Given the description of an element on the screen output the (x, y) to click on. 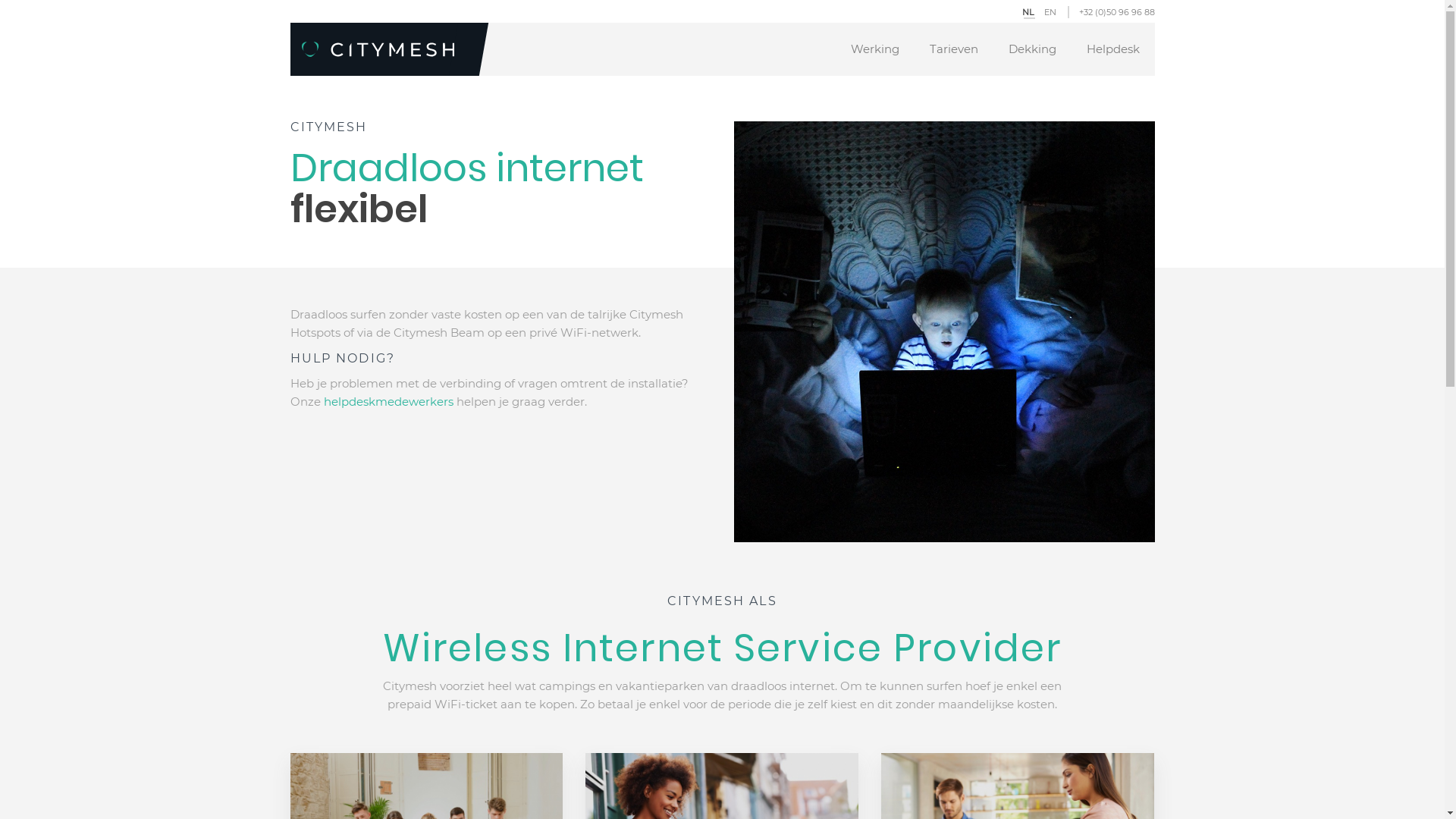
+32 (0)50 96 96 88 Element type: text (1116, 11)
Helpdesk Element type: text (1112, 48)
NL Element type: text (1027, 11)
Dekking Element type: text (1032, 48)
EN Element type: text (1049, 11)
helpdeskmedewerkers Element type: text (387, 401)
Werking Element type: text (874, 48)
Tarieven Element type: text (953, 48)
Citymesh_POS_H Created with Sketch. Element type: text (378, 52)
